Given the description of an element on the screen output the (x, y) to click on. 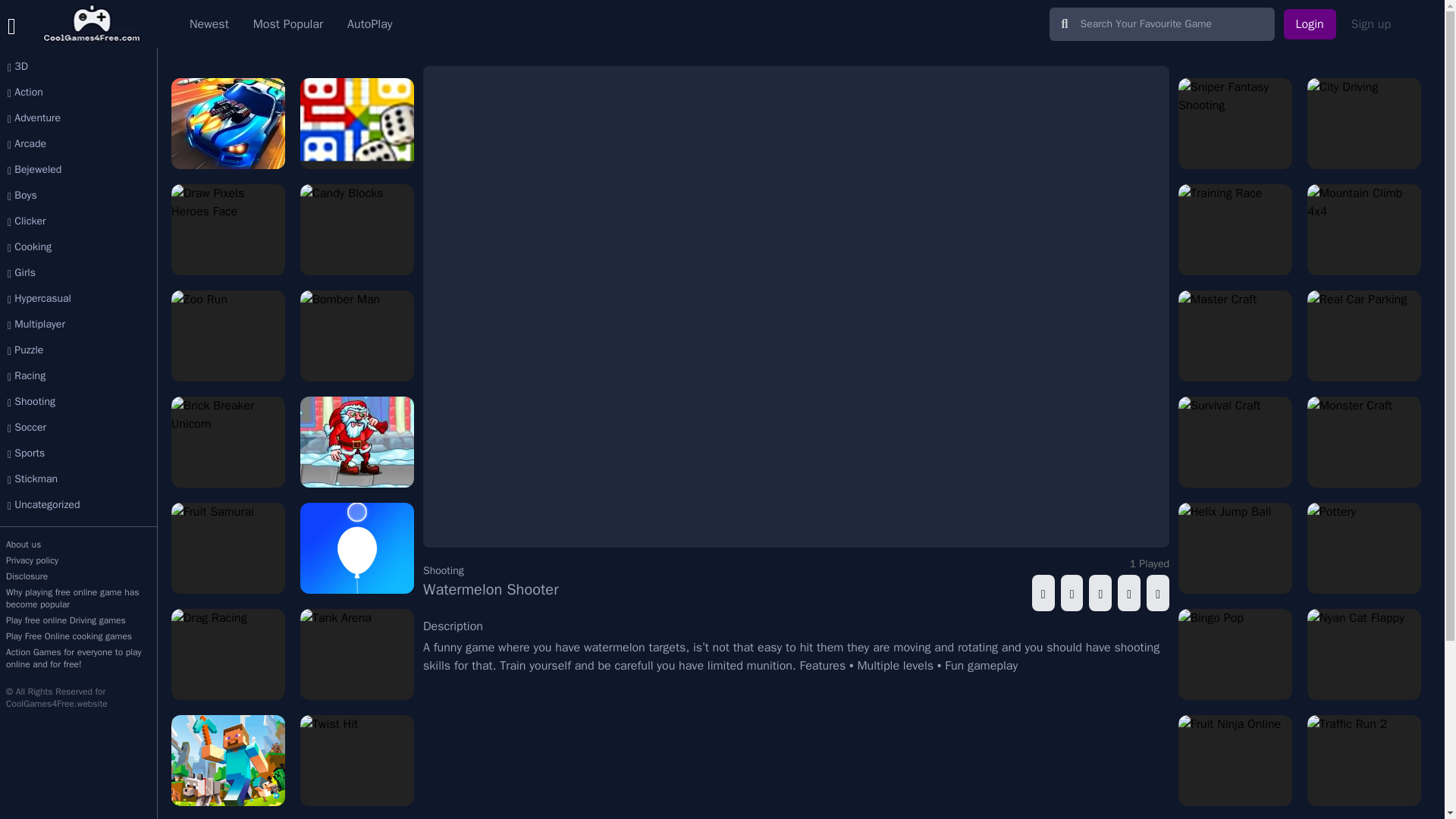
Login (1310, 24)
Sign up (1370, 24)
Newest (209, 23)
Most Popular (287, 23)
AutoPlay (369, 23)
